Given the description of an element on the screen output the (x, y) to click on. 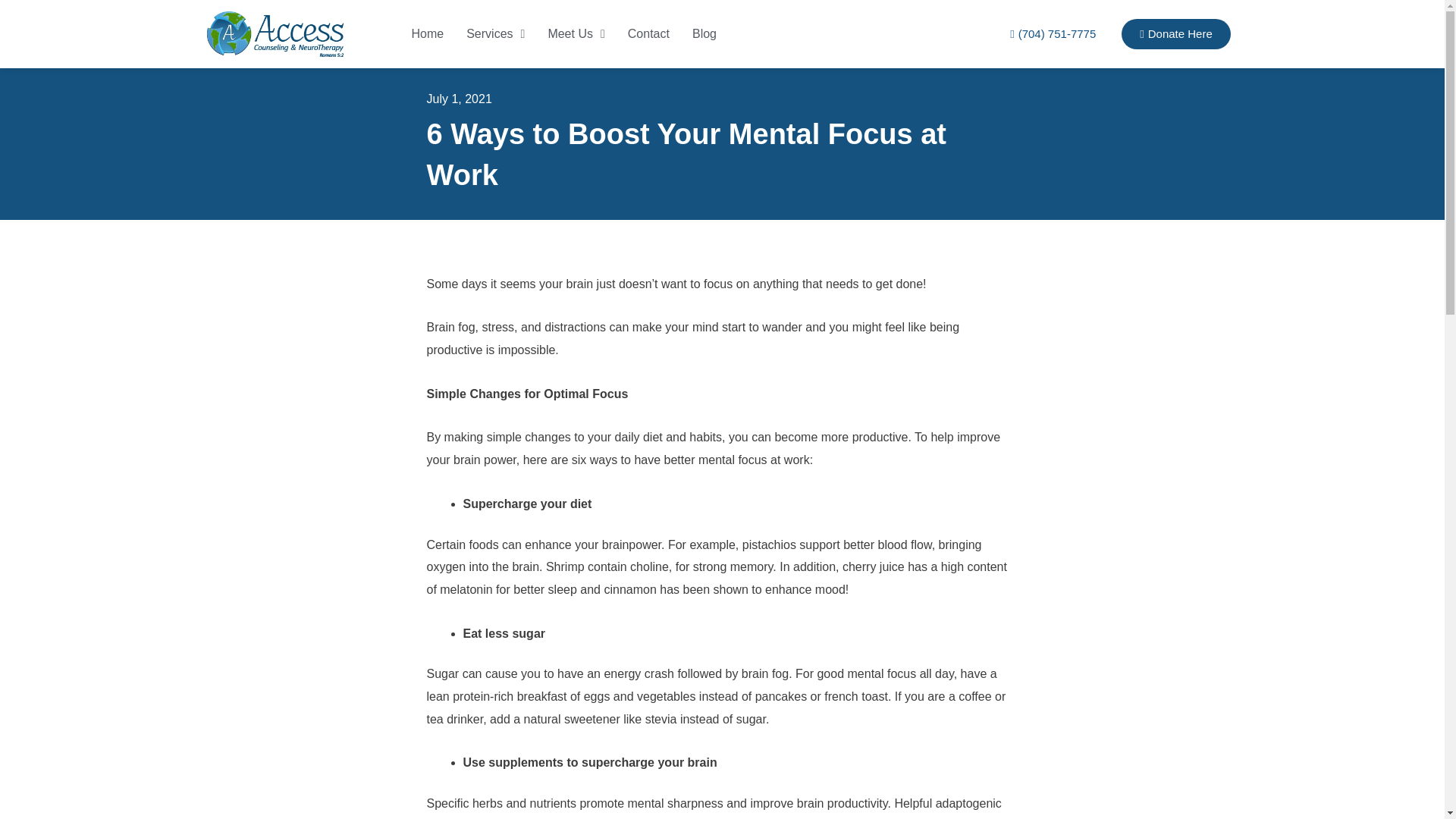
Meet Us (575, 33)
Home (427, 33)
Contact (648, 33)
Services (494, 33)
